Given the description of an element on the screen output the (x, y) to click on. 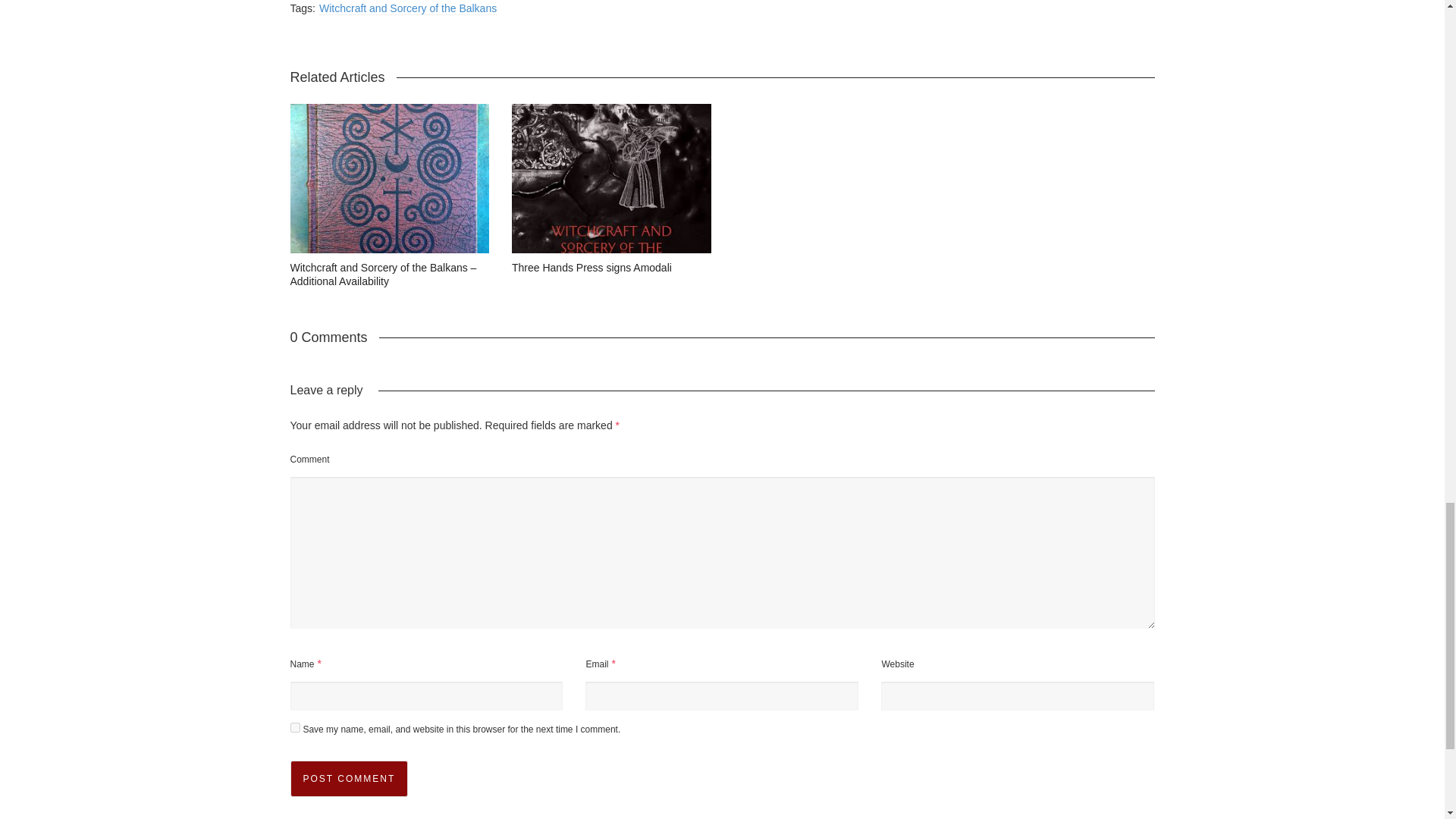
Post comment (348, 778)
yes (294, 727)
Permanent Link to Three Hands Press signs Amodali (591, 267)
